Given the description of an element on the screen output the (x, y) to click on. 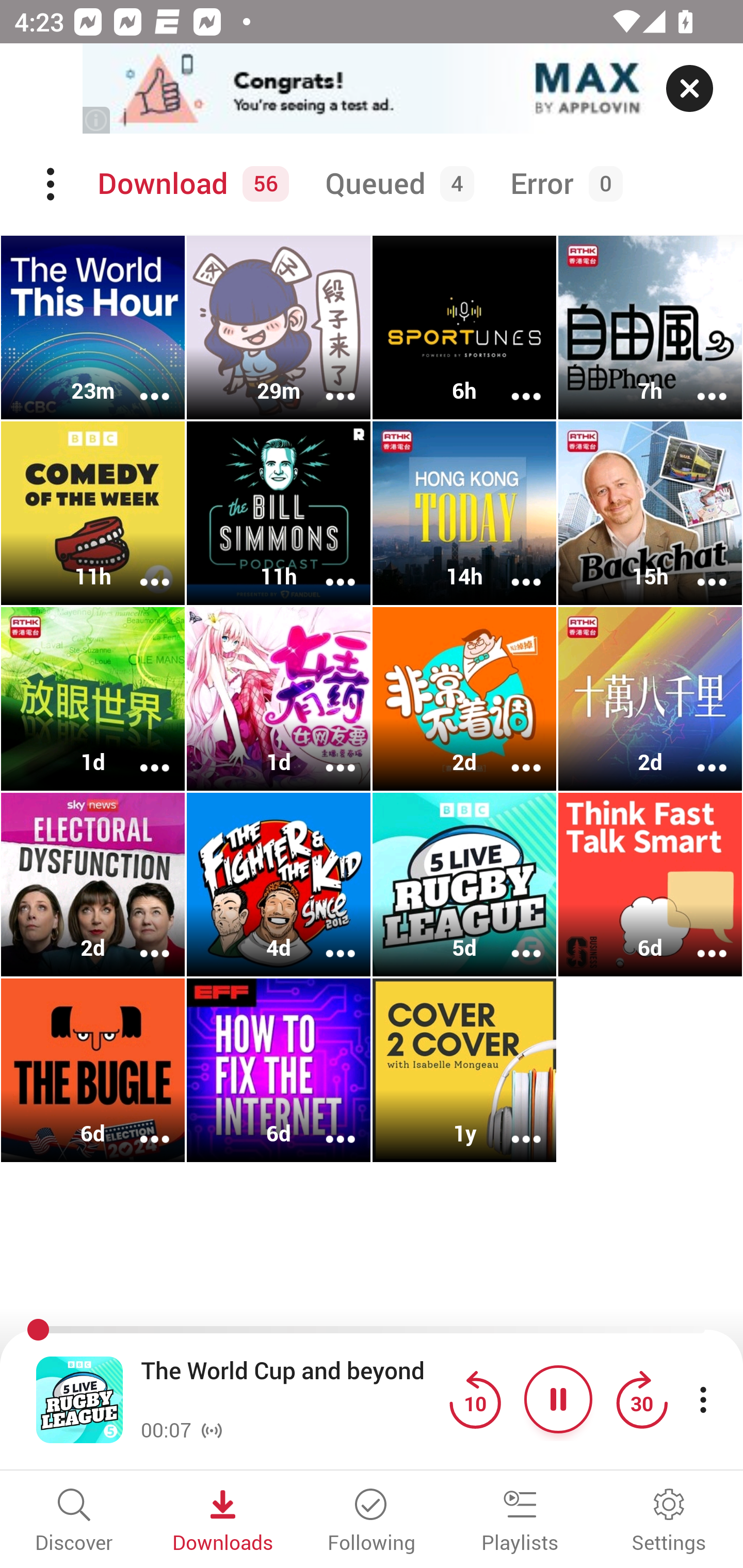
app-monetization (371, 88)
(i) (96, 119)
Menu (52, 184)
 Download 56 (189, 184)
 Queued 4 (396, 184)
 Error 0 (562, 184)
The World This Hour 23m More options More options (92, 327)
段子来了 29m More options More options (278, 327)
Sportunes HK 6h More options More options (464, 327)
自由风自由PHONE 7h More options More options (650, 327)
More options (141, 382)
More options (326, 382)
More options (512, 382)
More options (698, 382)
Comedy of the Week 11h More options More options (92, 513)
Hong Kong Today 14h More options More options (464, 513)
Backchat 15h More options More options (650, 513)
More options (141, 569)
More options (326, 569)
More options (512, 569)
More options (698, 569)
放眼世界 1d More options More options (92, 698)
女王有药丨爆笑脱口秀 1d More options More options (278, 698)
非常不着调 2d More options More options (464, 698)
十萬八千里 2d More options More options (650, 698)
More options (141, 754)
More options (326, 754)
More options (512, 754)
More options (698, 754)
Electoral Dysfunction 2d More options More options (92, 883)
The Fighter & The Kid 4d More options More options (278, 883)
5 Live Rugby League 5d More options More options (464, 883)
More options (141, 940)
More options (326, 940)
More options (512, 940)
More options (698, 940)
The Bugle 6d More options More options (92, 1069)
Cover 2 Cover 1y More options More options (464, 1069)
More options (141, 1125)
More options (326, 1125)
More options (512, 1125)
Open fullscreen player (79, 1399)
More player controls (703, 1399)
The World Cup and beyond (290, 1385)
Pause button (558, 1398)
Jump back (475, 1399)
Jump forward (641, 1399)
Discover (74, 1521)
Downloads (222, 1521)
Following (371, 1521)
Playlists (519, 1521)
Settings (668, 1521)
